Given the description of an element on the screen output the (x, y) to click on. 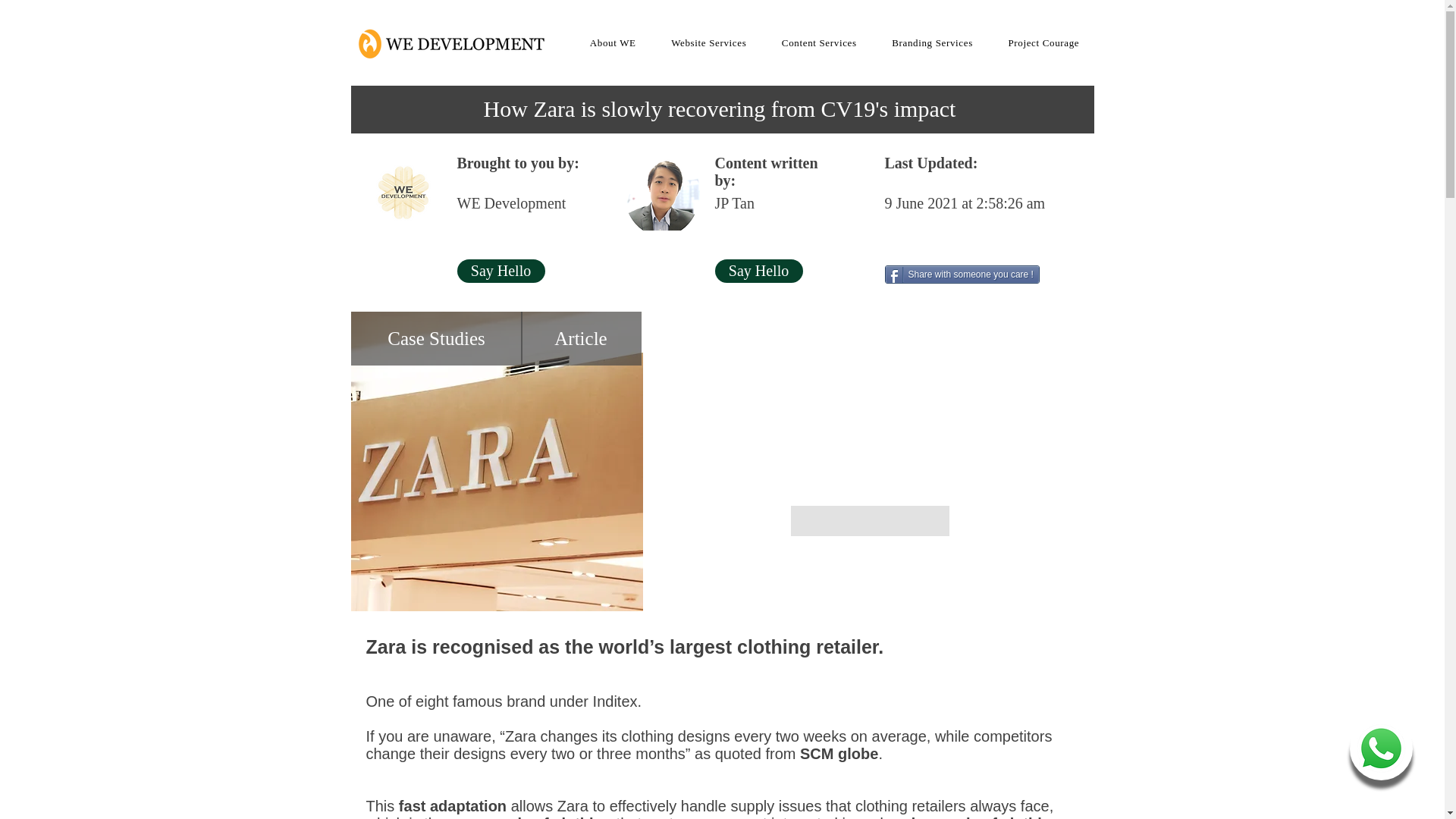
Say Hello (500, 270)
JP Tan.png (660, 192)
Content Services (818, 42)
Website Services (708, 42)
SCM globe (838, 753)
Share with someone you care ! (961, 274)
Branding Services (932, 42)
Image by Highlight ID.jpg (496, 461)
About WE (612, 42)
we development.png (403, 192)
Say Hello (758, 270)
Share with someone you care ! (961, 274)
Project Courage (1042, 42)
